Given the description of an element on the screen output the (x, y) to click on. 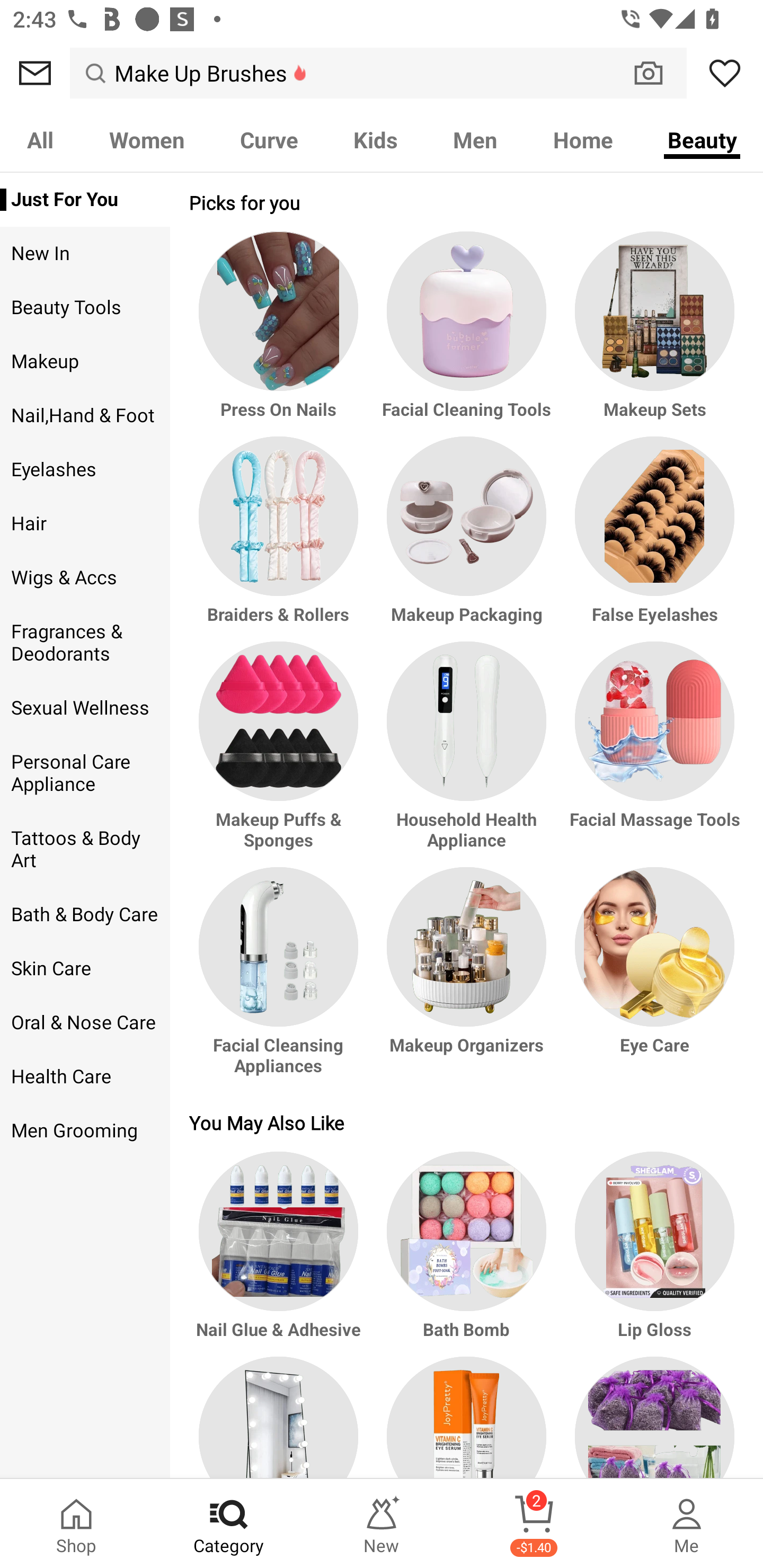
Wishlist (724, 72)
VISUAL SEARCH (657, 72)
All (40, 139)
Women (146, 139)
Curve (268, 139)
Kids (375, 139)
Men (474, 139)
Home (582, 139)
Beauty (701, 139)
Just For You (85, 199)
Picks for you (466, 202)
New In (85, 253)
Press On Nails (281, 333)
Facial Cleaning Tools (466, 333)
Makeup Sets (651, 333)
Beauty Tools (85, 307)
Makeup (85, 361)
Nail,Hand & Foot (85, 415)
Braiders & Rollers (281, 538)
Makeup Packaging (466, 538)
False Eyelashes (651, 538)
Eyelashes (85, 469)
Hair (85, 523)
Wigs & Accs (85, 577)
Fragrances & Deodorants (85, 642)
Makeup Puffs & Sponges (281, 754)
Household Health Appliance (466, 754)
Facial Massage Tools (651, 754)
Sexual Wellness (85, 707)
Personal Care Appliance (85, 773)
Tattoos & Body Art (85, 849)
Facial Cleansing Appliances (281, 979)
Makeup Organizers (466, 979)
Eye Care (651, 979)
Bath & Body Care (85, 914)
Skin Care (85, 968)
Oral & Nose Care (85, 1022)
Health Care (85, 1076)
You May Also Like (466, 1121)
Men Grooming (85, 1130)
Nail Glue & Adhesive (281, 1253)
Bath Bomb (466, 1253)
Lip Gloss (651, 1253)
Shop (76, 1523)
New (381, 1523)
Cart 2 -$1.40 (533, 1523)
Me (686, 1523)
